Given the description of an element on the screen output the (x, y) to click on. 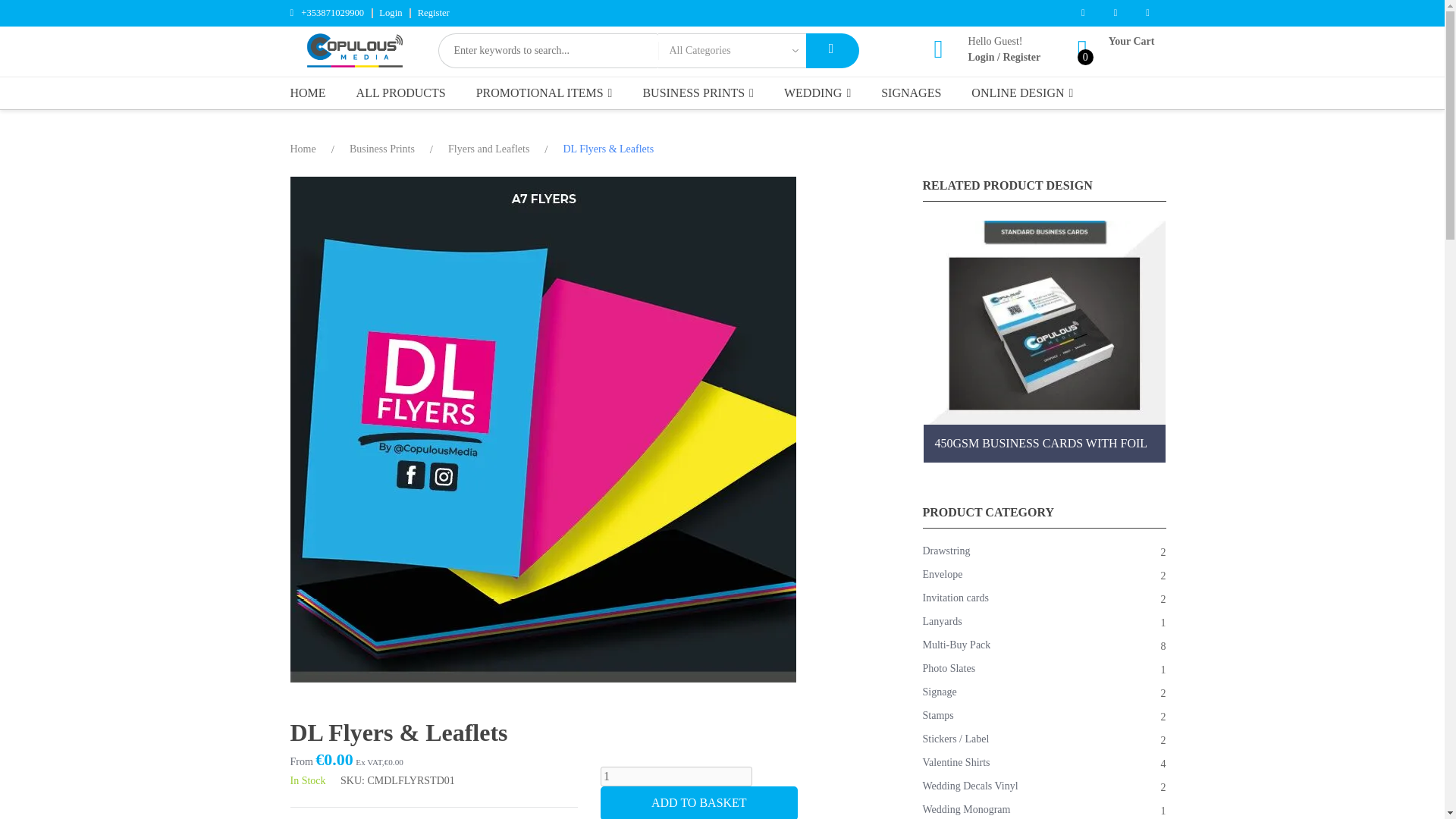
Login (981, 57)
PROMOTIONAL ITEMS (544, 92)
Login (389, 12)
ALL PRODUCTS (400, 92)
HOME (311, 92)
Search (832, 50)
Qty (675, 776)
Register (433, 12)
Register (1022, 57)
Login (981, 57)
